Given the description of an element on the screen output the (x, y) to click on. 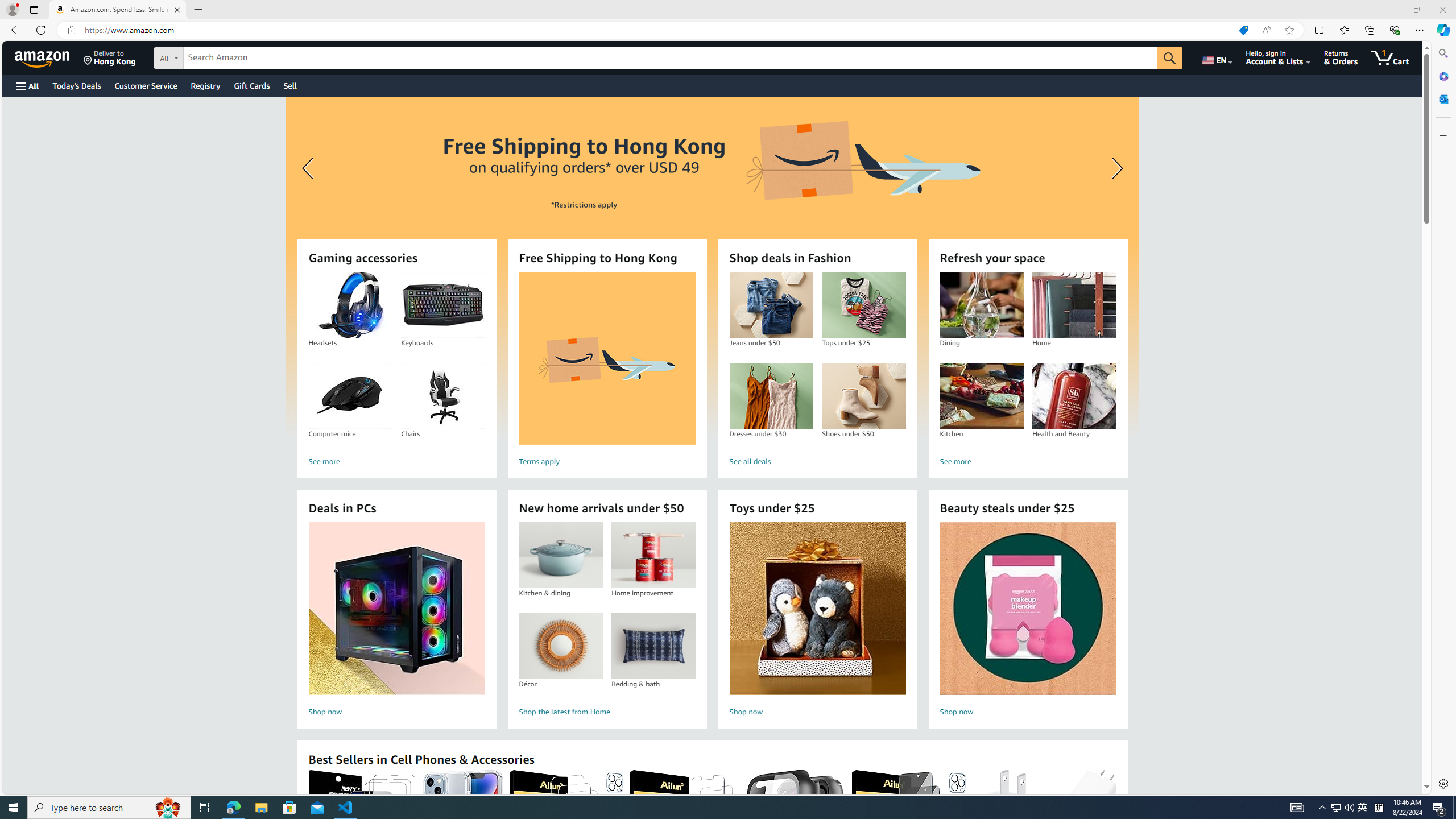
Registry (205, 85)
Terminal (Ctrl+`) (342, 539)
Search (Ctrl+Shift+F) (13, 60)
del.py (342, 29)
Outlook (1442, 98)
User Promoted Notification Area (1342, 807)
Free Shipping to Hong Kong Terms apply (606, 370)
Testing (13, 169)
Tops under $25 (863, 304)
Close (1442, 9)
